Given the description of an element on the screen output the (x, y) to click on. 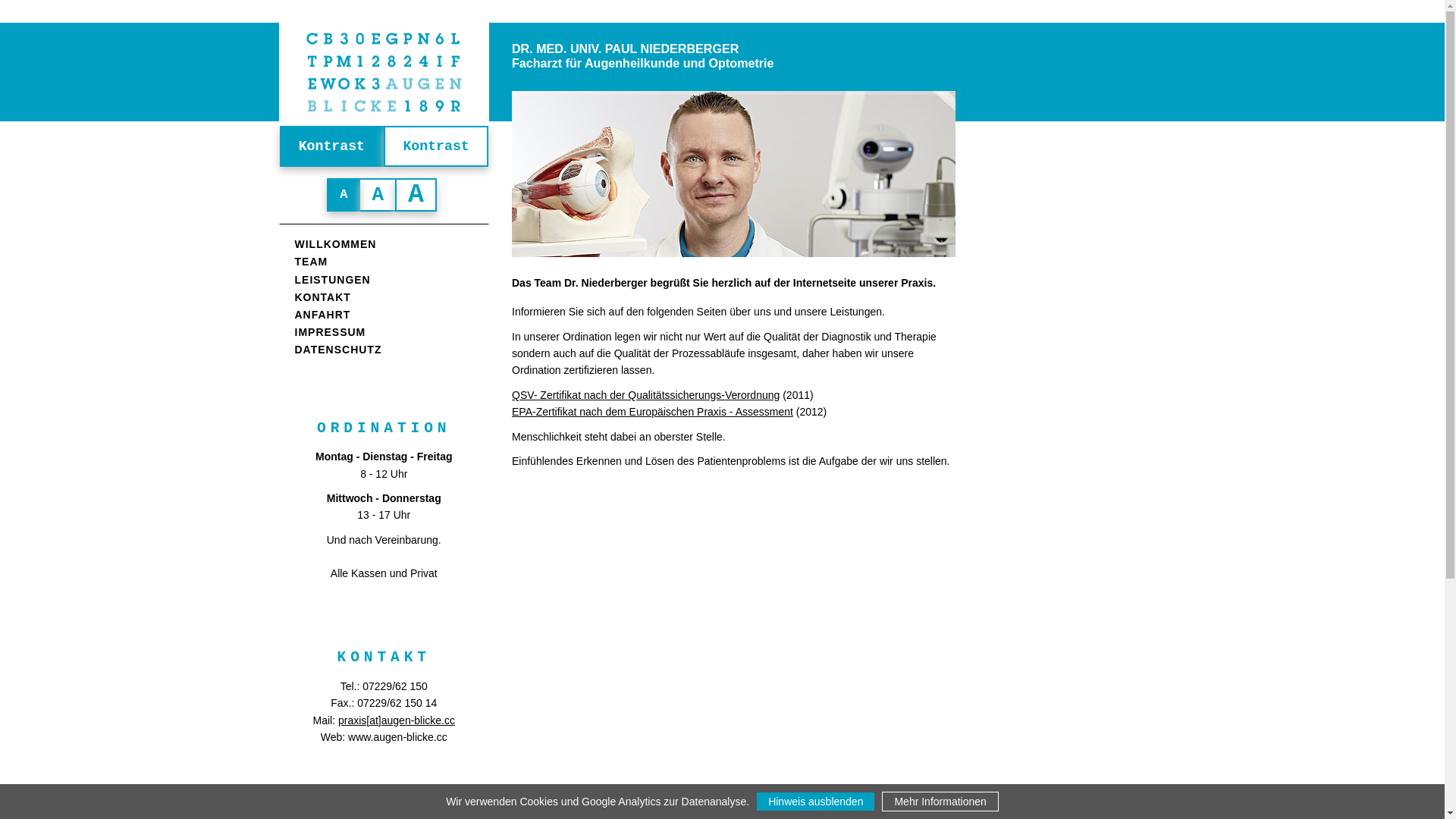
KONTAKT Element type: text (322, 297)
LEISTUNGEN Element type: text (332, 279)
ANFAHRT Element type: text (322, 314)
WILLKOMMEN Element type: text (335, 244)
Hinweis ausblenden Element type: text (815, 801)
DATENSCHUTZ Element type: text (337, 349)
Kontrast Element type: text (331, 145)
Kontrast Element type: text (435, 145)
TEAM Element type: text (310, 261)
IMPRESSUM Element type: text (329, 332)
praxis[at]augen-blicke.cc Element type: text (396, 720)
Mehr Informationen Element type: text (939, 801)
